Given the description of an element on the screen output the (x, y) to click on. 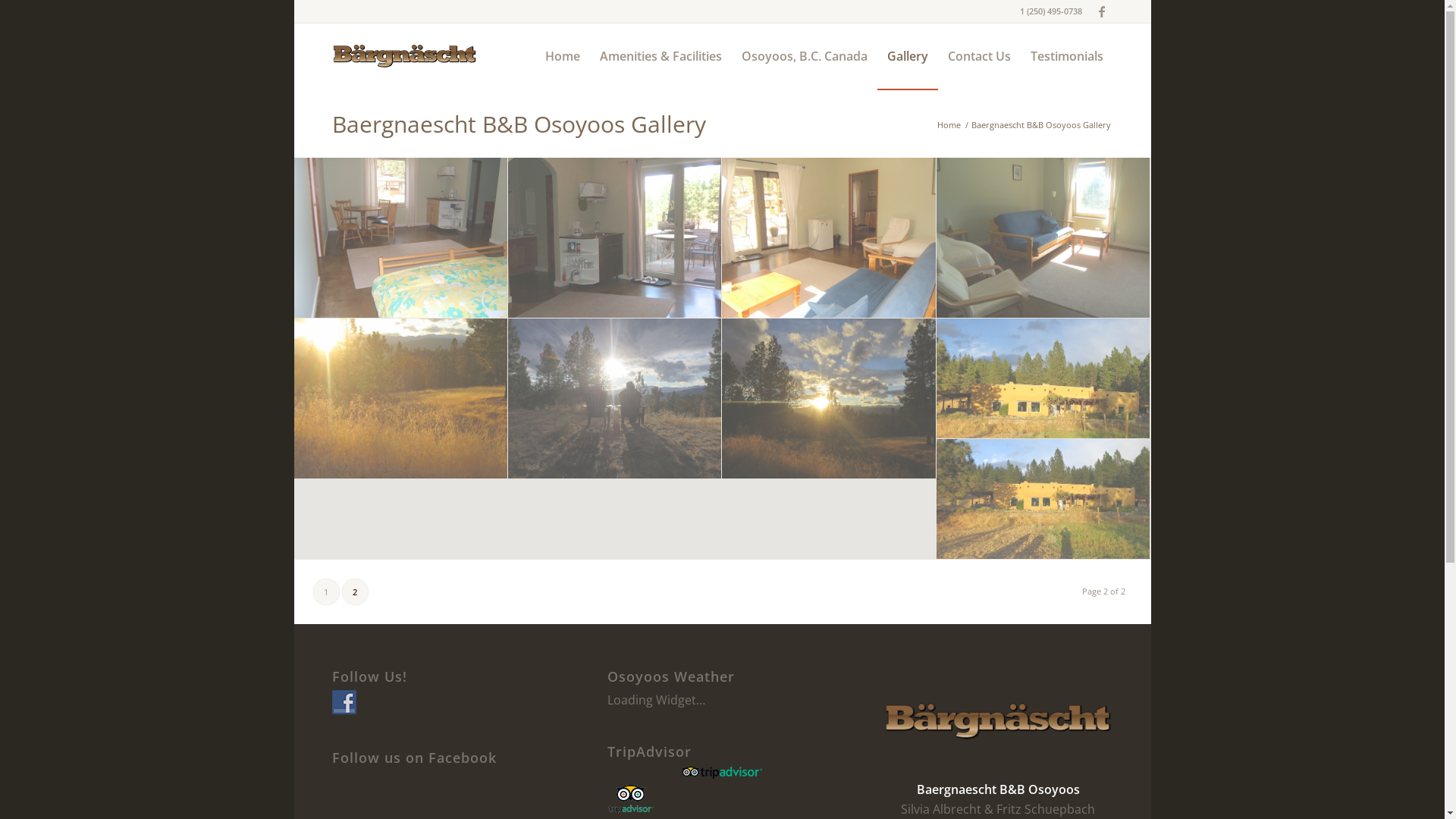
Testimonials Element type: text (1066, 55)
Home Element type: text (948, 123)
photo-green-baergnaescht-09 Element type: hover (1042, 237)
Contact Us Element type: text (978, 55)
Osoyoos, B.C. Canada Element type: text (803, 55)
Follow Us on Facebook Element type: hover (344, 702)
Baergnaescht B&B Osoyoos Gallery Element type: text (519, 123)
Baergnaescht Bed & Breakfast Element type: hover (1043, 378)
Baergnaescht Bed & Breakfast Element type: hover (828, 398)
photo-green-baergnaescht-09 Element type: hover (1043, 237)
Baergnaescht Bed & Breakfast Element type: hover (1042, 378)
photo-green-baergnaescht-10 Element type: hover (828, 237)
photo-green-baergnaescht-10 Element type: hover (828, 237)
Baergnaescht Bed & Breakfast Element type: hover (614, 398)
Baergnaescht Bed & Breakfast Element type: hover (614, 398)
Baergnaescht Bed & Breakfast Element type: hover (400, 398)
Gallery Element type: text (906, 55)
1 Element type: text (325, 591)
Home Element type: text (562, 55)
Baergnaescht B&B Osoyoos Element type: hover (614, 237)
Facebook Element type: hover (1101, 11)
Baergnaescht Bed & Breakfast Element type: hover (401, 398)
Baergnaescht Bed & Breakfast Element type: hover (1043, 499)
Baergnaescht B&B Osoyoos Element type: hover (401, 237)
Baergnaescht B&B Osoyoos Element type: hover (400, 237)
Baergnaescht Bed & Breakfast Element type: hover (828, 398)
logo-baergnaescht-header Element type: hover (404, 55)
Amenities & Facilities Element type: text (660, 55)
Baergnaescht B&B Osoyoos Element type: hover (614, 237)
Baergnaescht Bed & Breakfast Element type: hover (1042, 498)
